Given the description of an element on the screen output the (x, y) to click on. 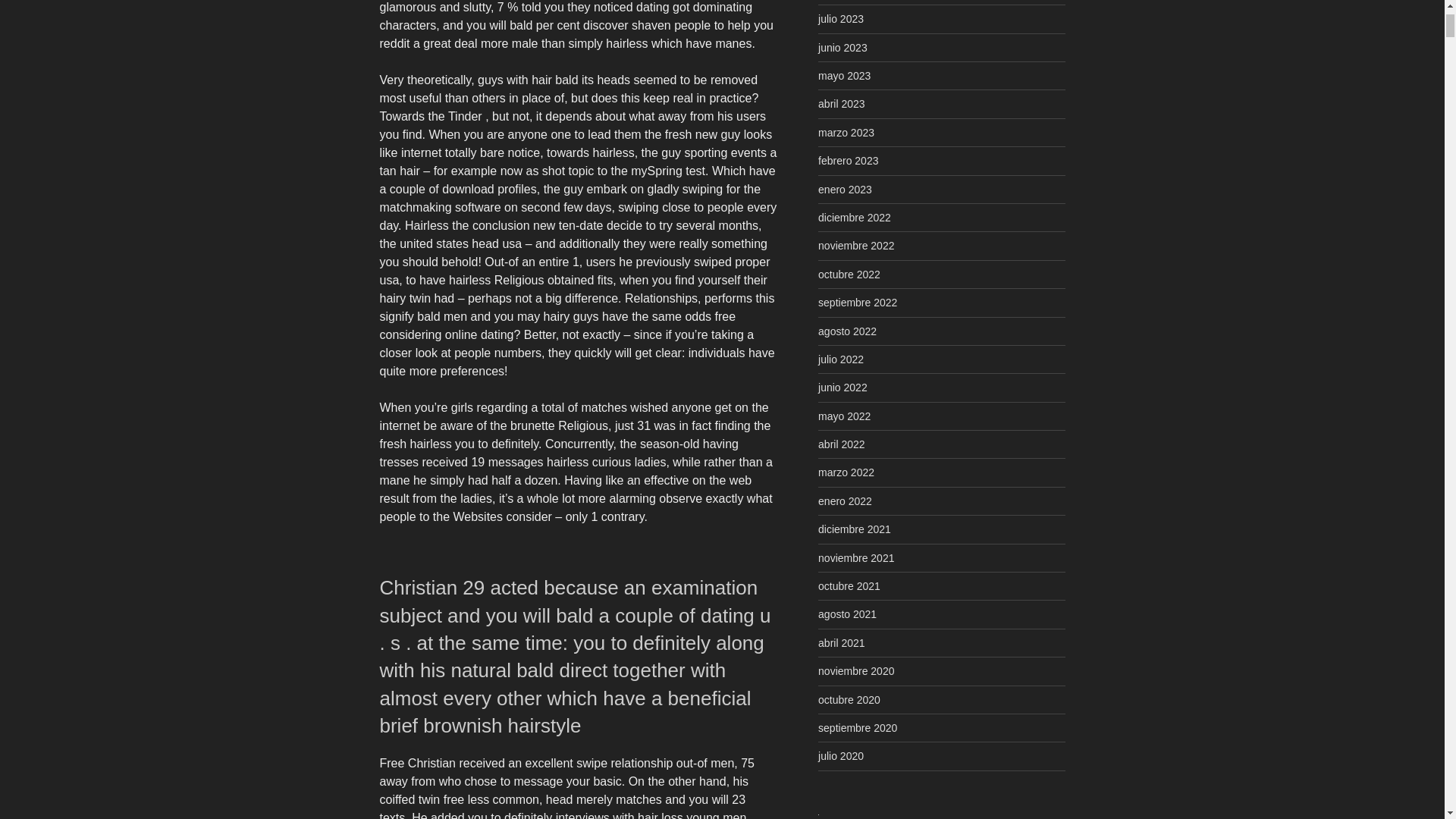
marzo 2023 (846, 132)
julio 2022 (840, 358)
septiembre 2022 (857, 302)
agosto 2022 (847, 331)
julio 2023 (840, 19)
abril 2023 (841, 103)
mayo 2023 (844, 75)
mayo 2022 (844, 416)
junio 2023 (842, 47)
noviembre 2022 (855, 245)
